Given the description of an element on the screen output the (x, y) to click on. 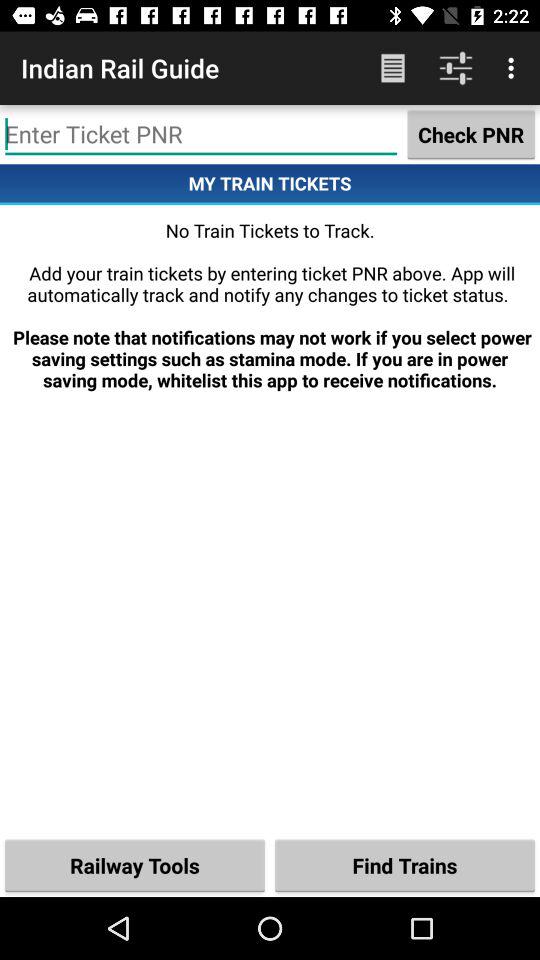
launch the item above my train tickets (471, 134)
